Given the description of an element on the screen output the (x, y) to click on. 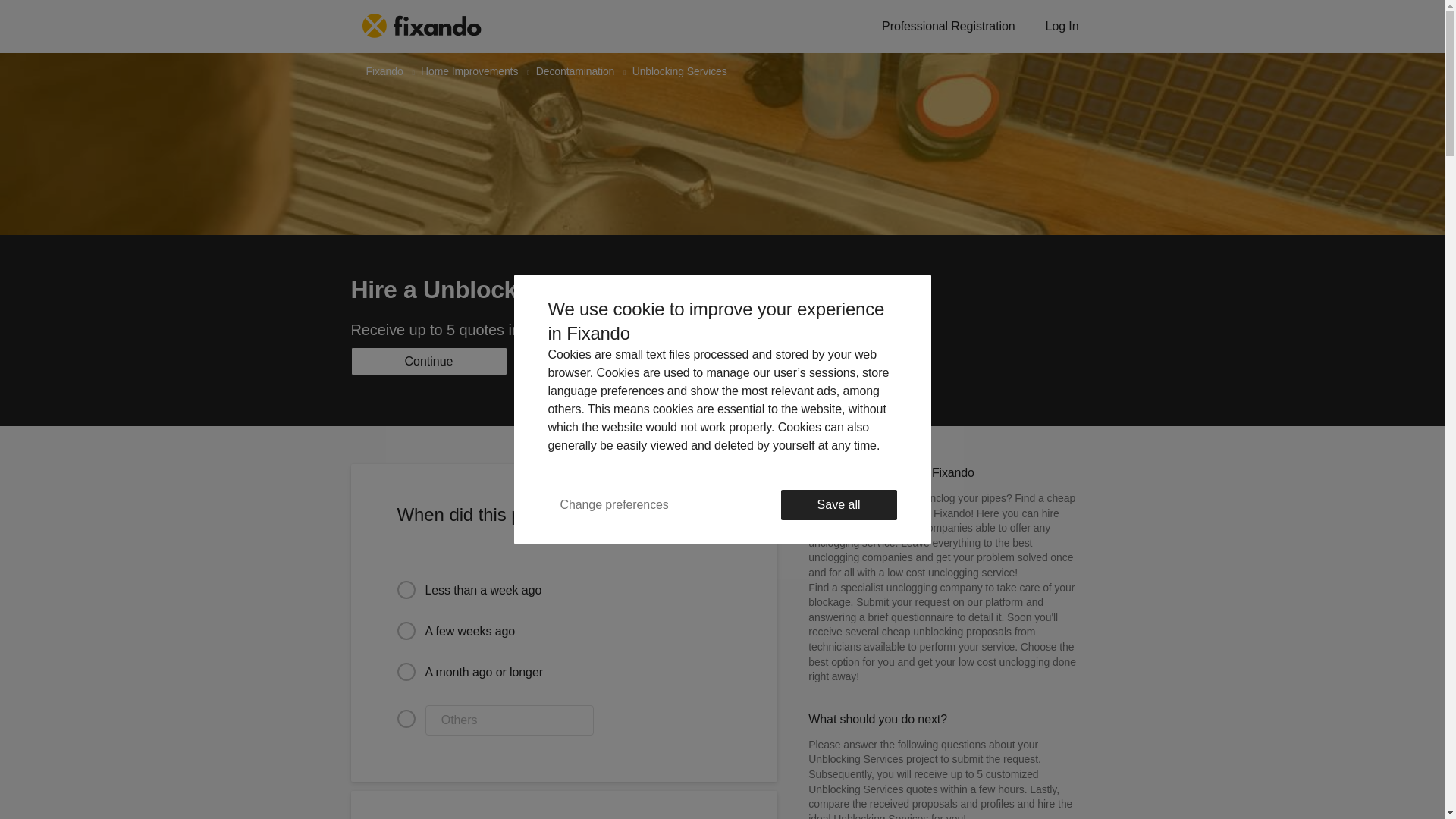
Home Improvements (469, 71)
Fixando United Kingdom (384, 71)
Decontamination (574, 71)
Decontamination (574, 71)
Continue (428, 361)
Home Improvements (469, 71)
Save all (838, 504)
Professional Registration (947, 26)
Log In (1062, 26)
Change preferences (613, 504)
Continue (428, 361)
Fixando (384, 71)
